Given the description of an element on the screen output the (x, y) to click on. 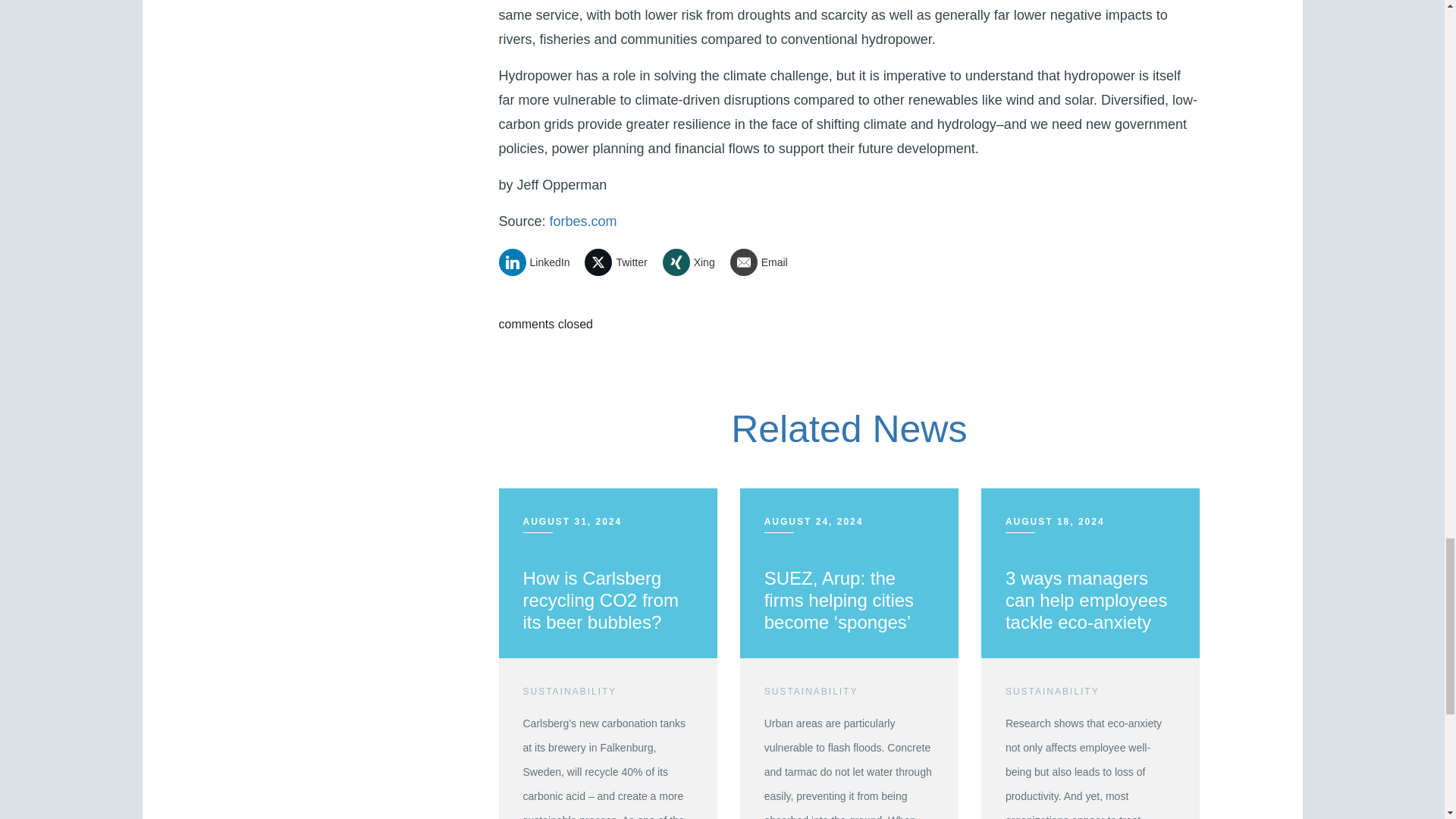
Share on Xing (694, 262)
LinkedIn (539, 262)
forbes.com (583, 221)
Share on Email (764, 262)
Share on LinkedIn (539, 262)
Share on Twitter (621, 262)
